Given the description of an element on the screen output the (x, y) to click on. 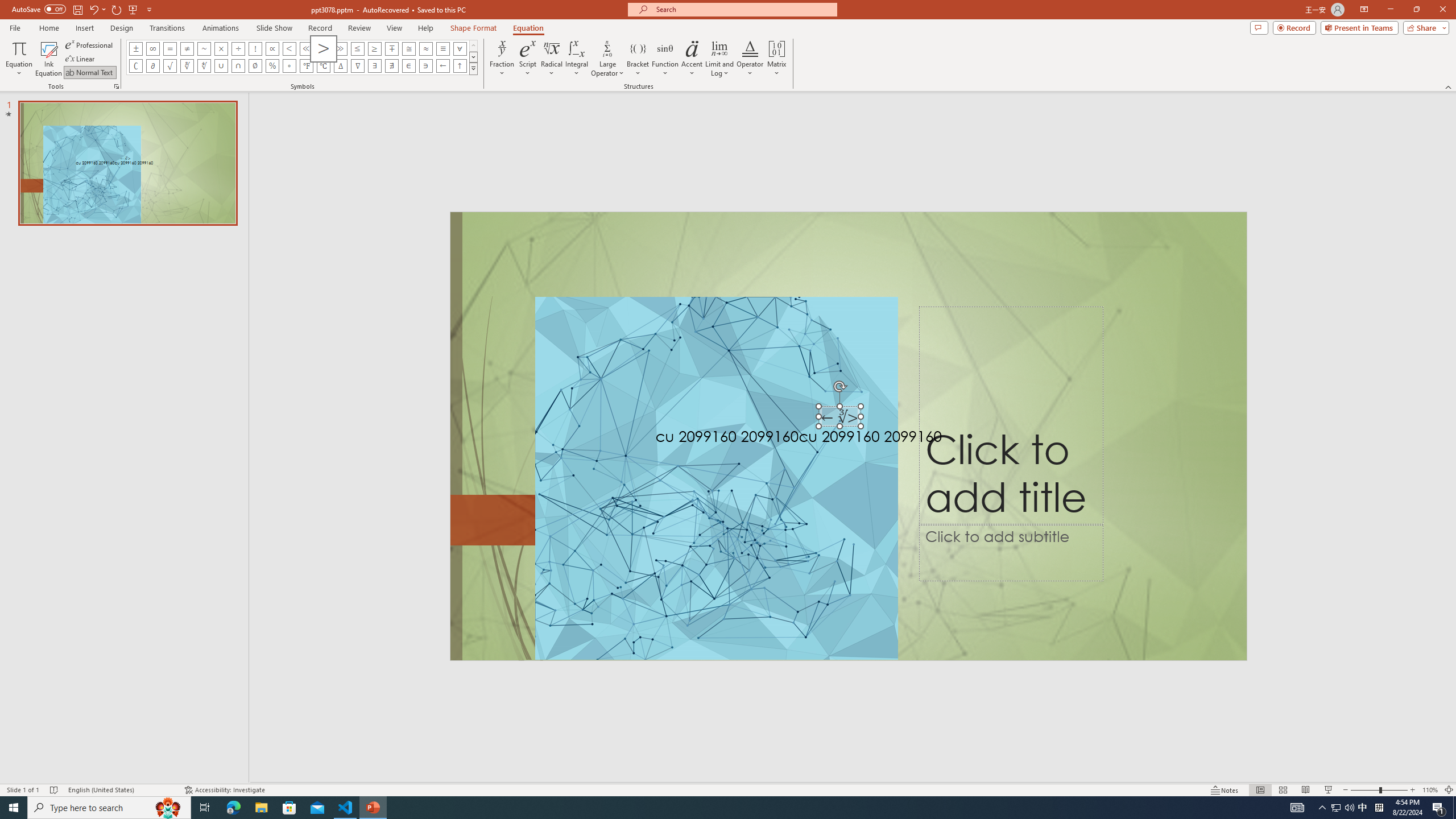
Professional (90, 44)
Equation Symbol Not Equal To (187, 48)
Equation Symbol Infinity (152, 48)
